Given the description of an element on the screen output the (x, y) to click on. 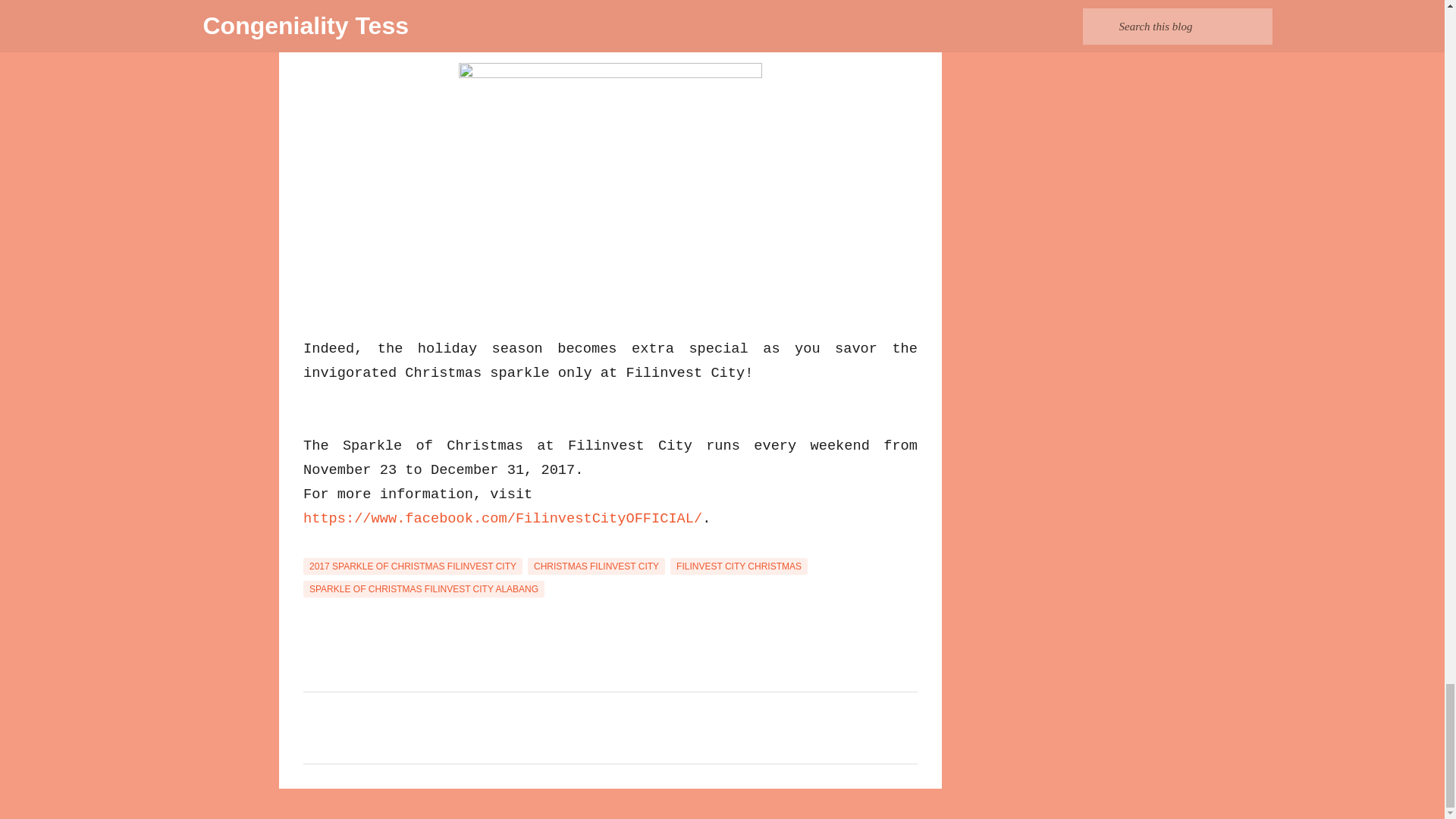
SPARKLE OF CHRISTMAS FILINVEST CITY ALABANG (423, 588)
2017 SPARKLE OF CHRISTMAS FILINVEST CITY (412, 565)
CHRISTMAS FILINVEST CITY (596, 565)
FILINVEST CITY CHRISTMAS (738, 565)
